Given the description of an element on the screen output the (x, y) to click on. 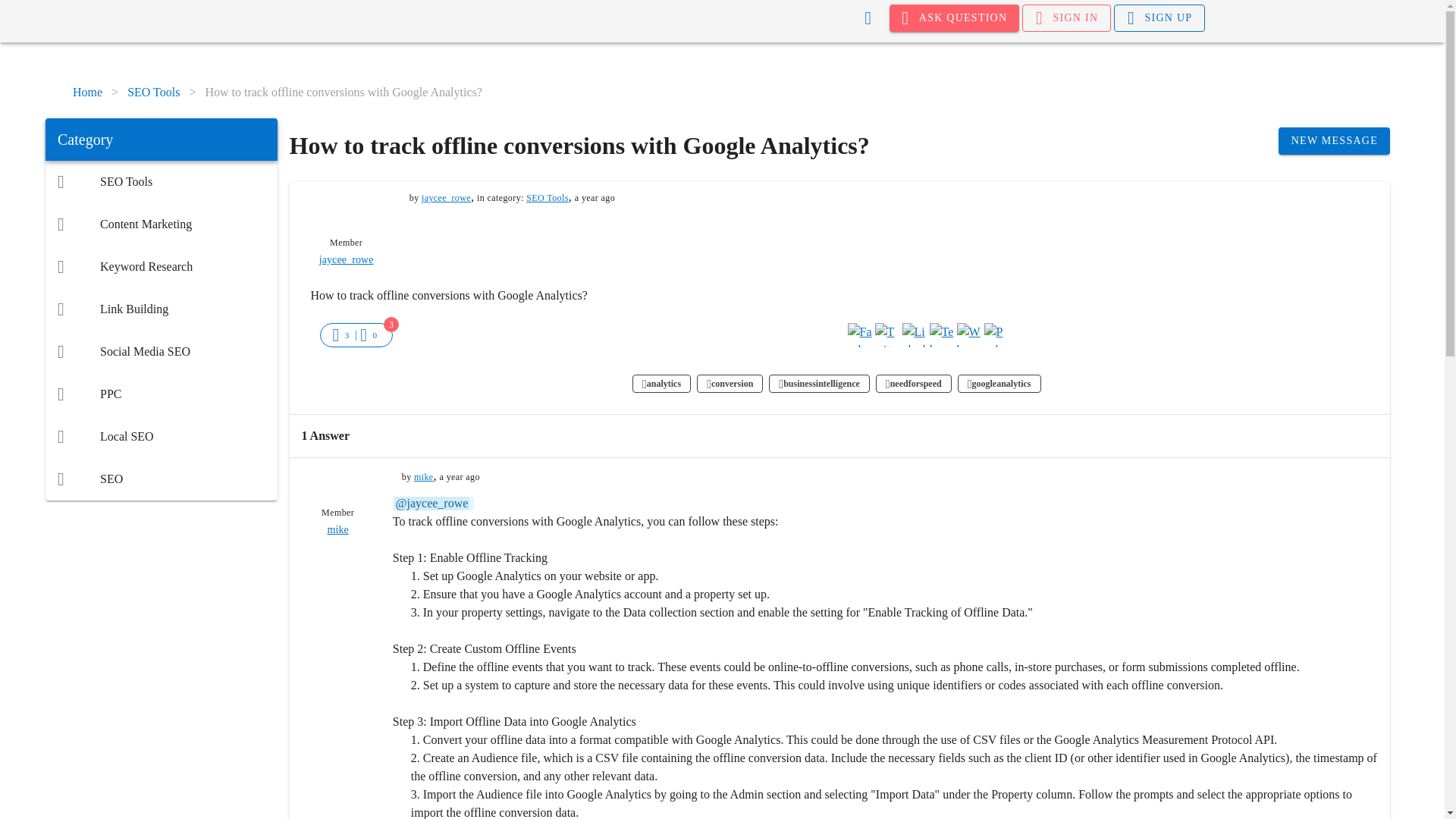
Link Building (161, 309)
Content Marketing (161, 224)
Social Media SEO (161, 351)
How to track offline conversions with Google Analytics? (343, 92)
Telegram (941, 334)
SEO Tools (547, 197)
NEW MESSAGE (1334, 140)
SIGN UP (1159, 17)
SEO Tools (153, 92)
LinkedIn (914, 334)
